Given the description of an element on the screen output the (x, y) to click on. 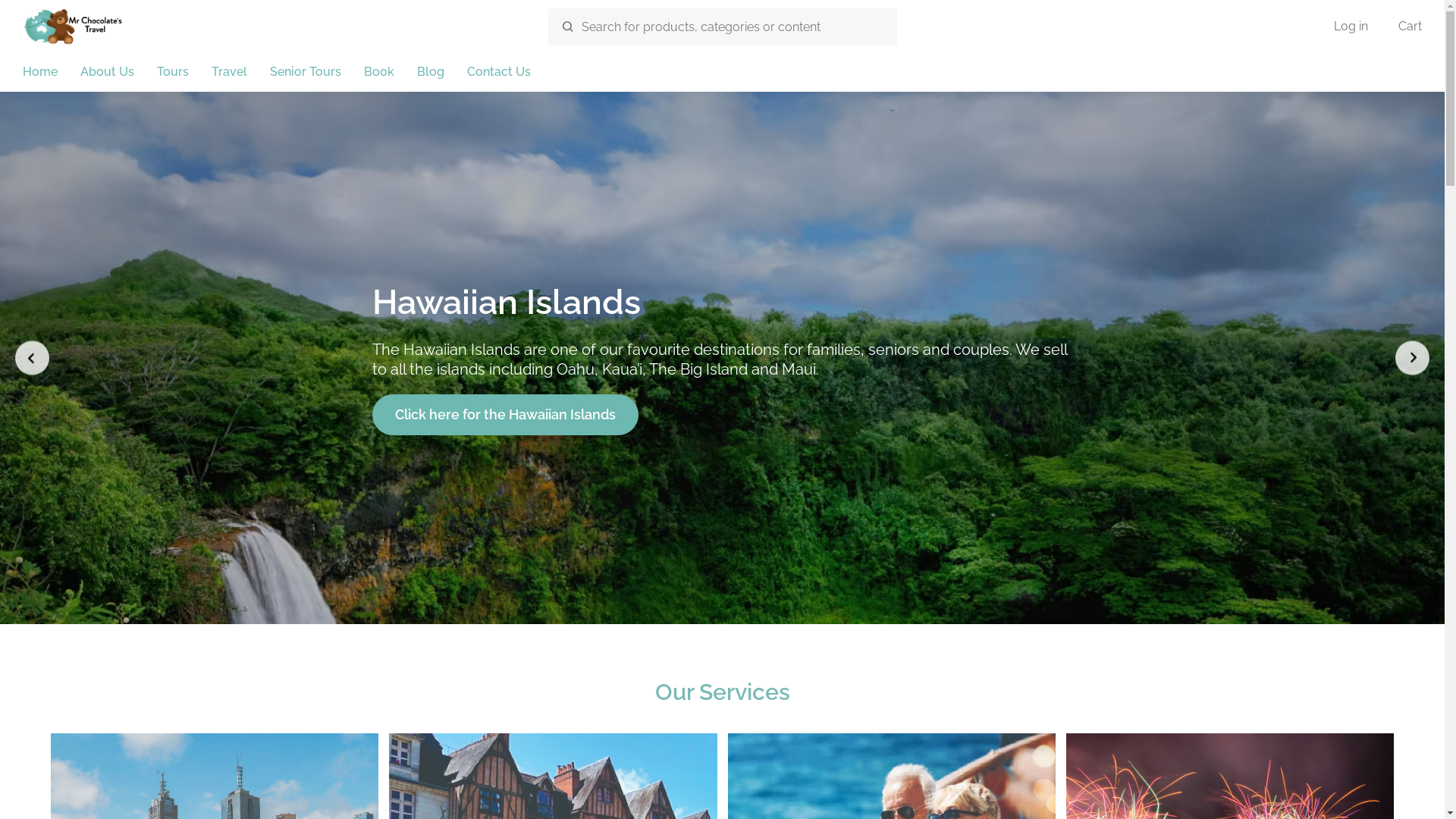
Book Element type: text (378, 72)
Senior Tours Element type: text (305, 72)
Travel Element type: text (229, 72)
About Us Element type: text (107, 72)
Cart Element type: text (1409, 26)
Tours Element type: text (172, 72)
Log in Element type: text (1350, 26)
Blog Element type: text (430, 72)
Contact Us Element type: text (498, 72)
Home Element type: text (40, 72)
Click here for the Hawaiian Islands Element type: text (505, 414)
